Given the description of an element on the screen output the (x, y) to click on. 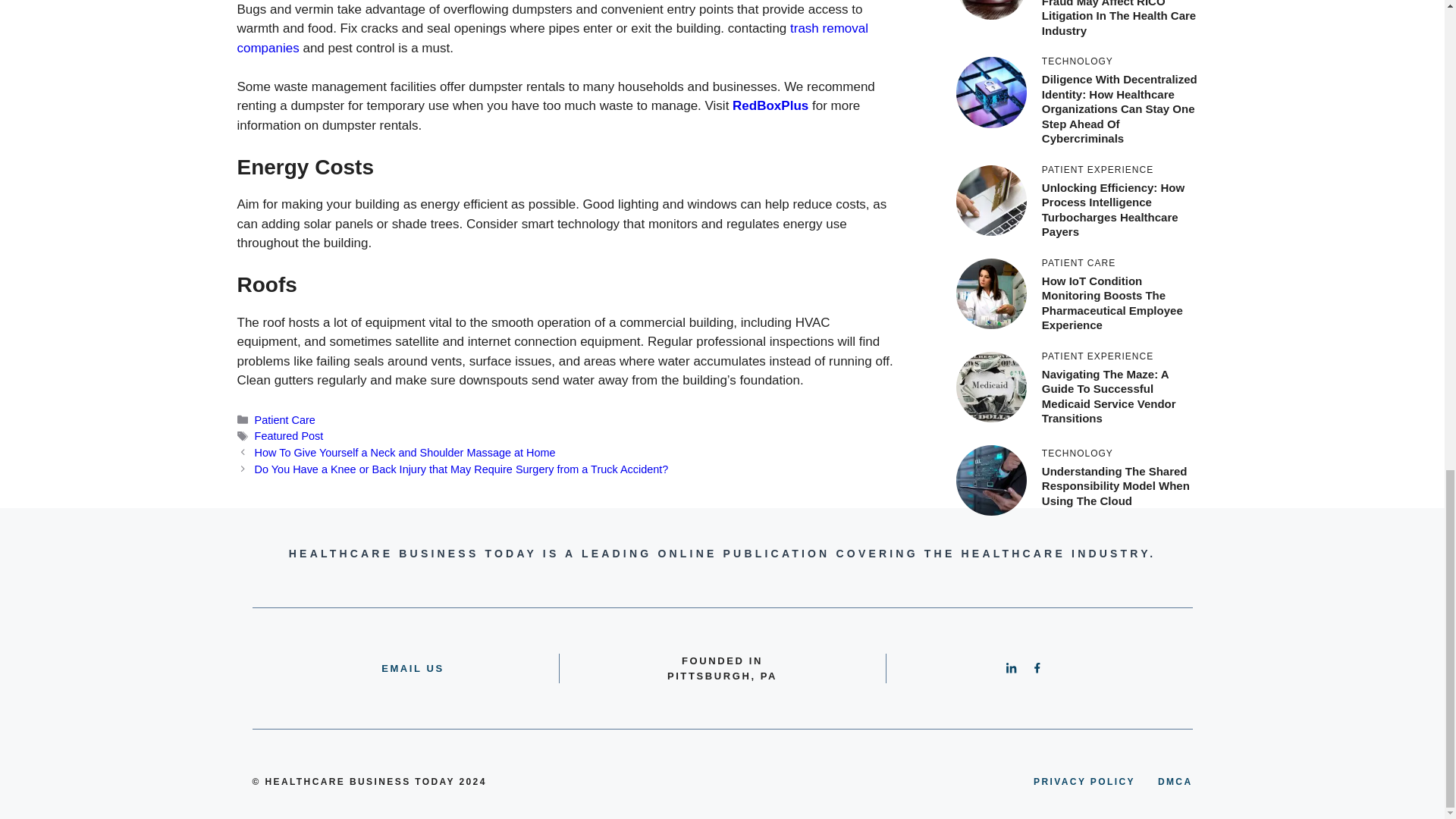
RedBoxPlus (770, 105)
trash removal companies (551, 38)
How To Give Yourself a Neck and Shoulder Massage at Home (405, 452)
Patient Care (284, 419)
Featured Post (288, 435)
